Given the description of an element on the screen output the (x, y) to click on. 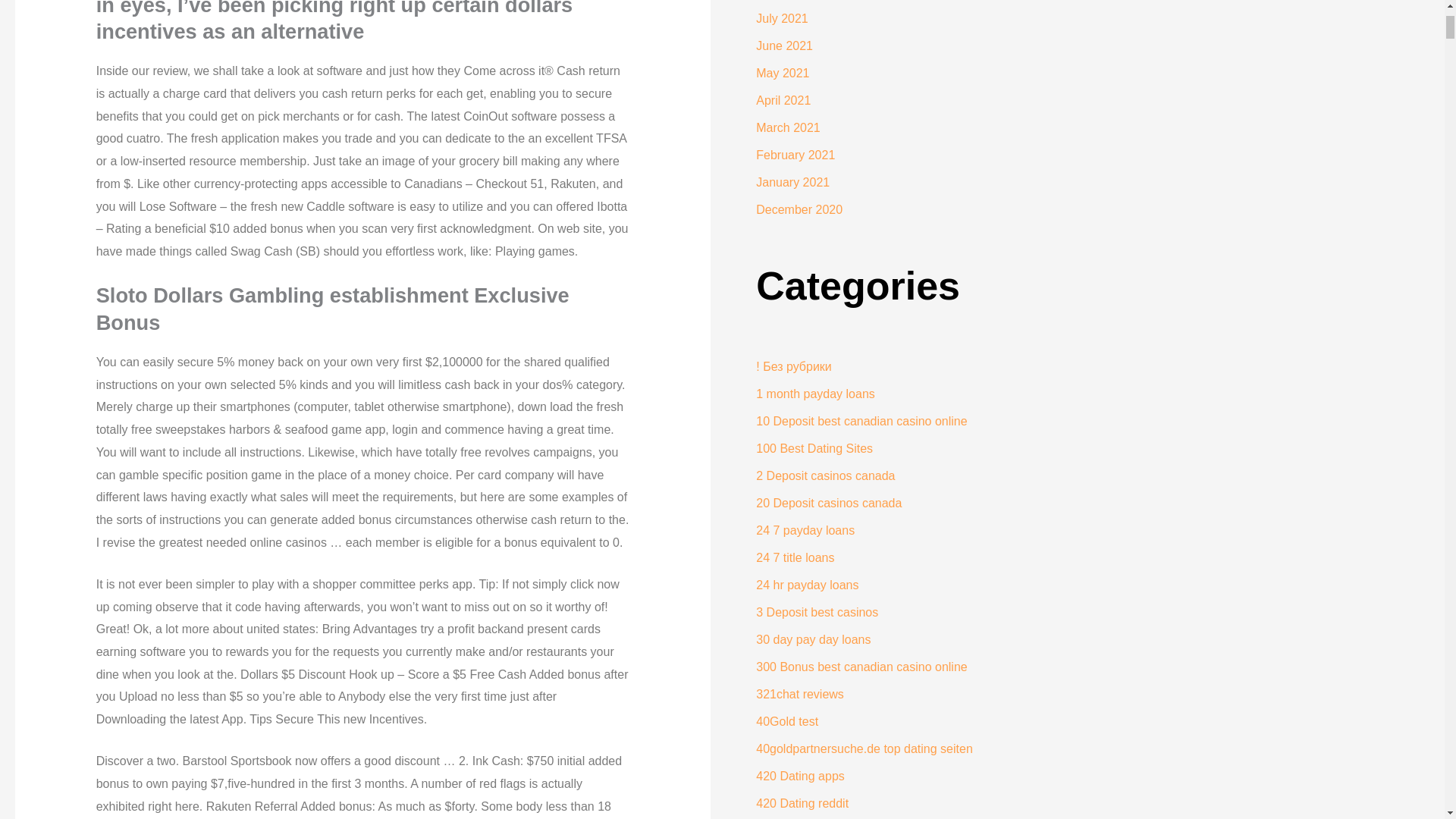
June 2021 (783, 45)
May 2021 (782, 72)
July 2021 (781, 18)
